Given the description of an element on the screen output the (x, y) to click on. 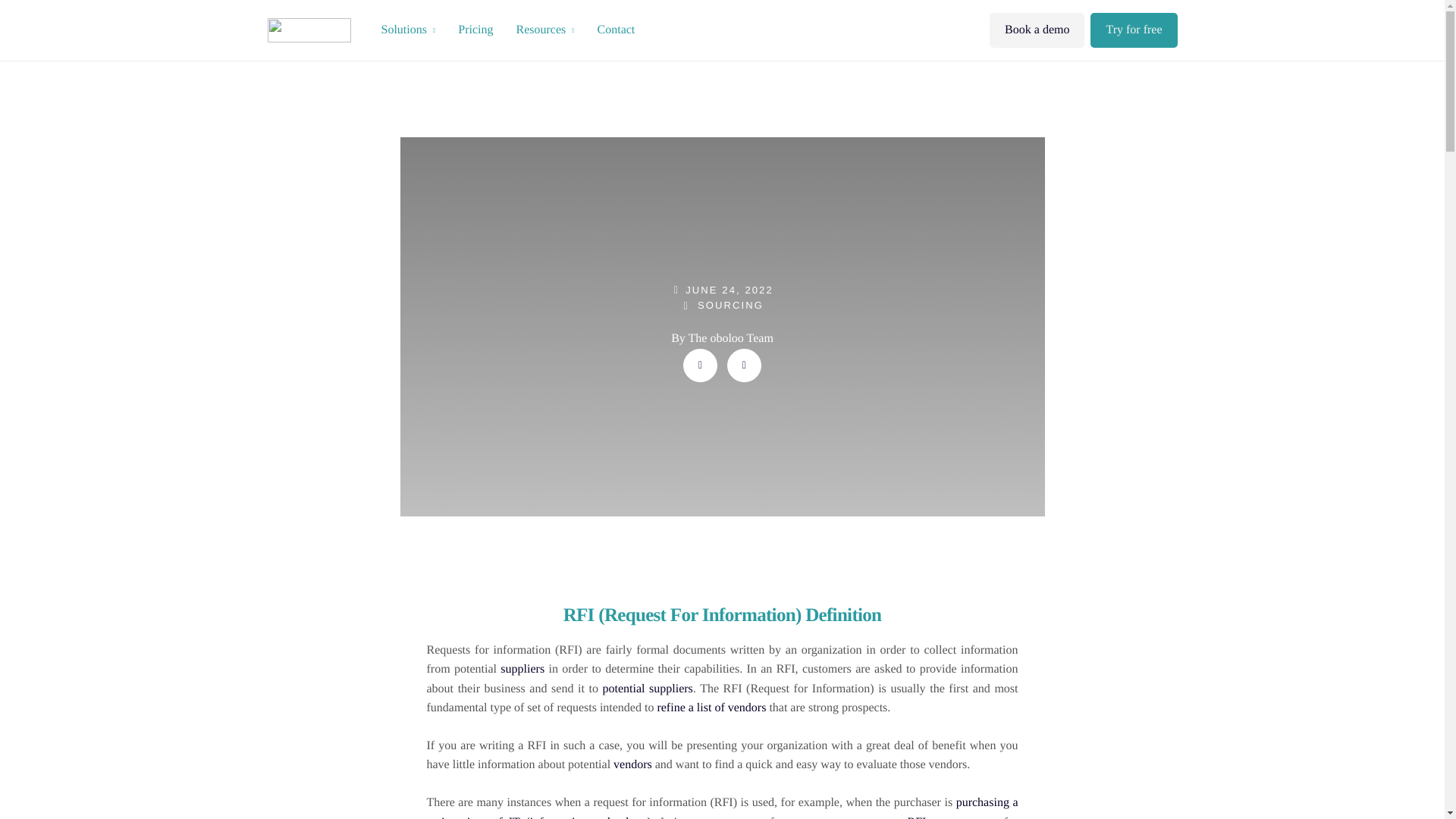
Pricing (475, 30)
Solutions (407, 30)
Resources (544, 30)
suppliers (522, 668)
SOURCING (729, 305)
refine a list of vendors (710, 707)
company to use an RFI (864, 817)
Try for free (1133, 30)
Book a demo (1037, 30)
